Given the description of an element on the screen output the (x, y) to click on. 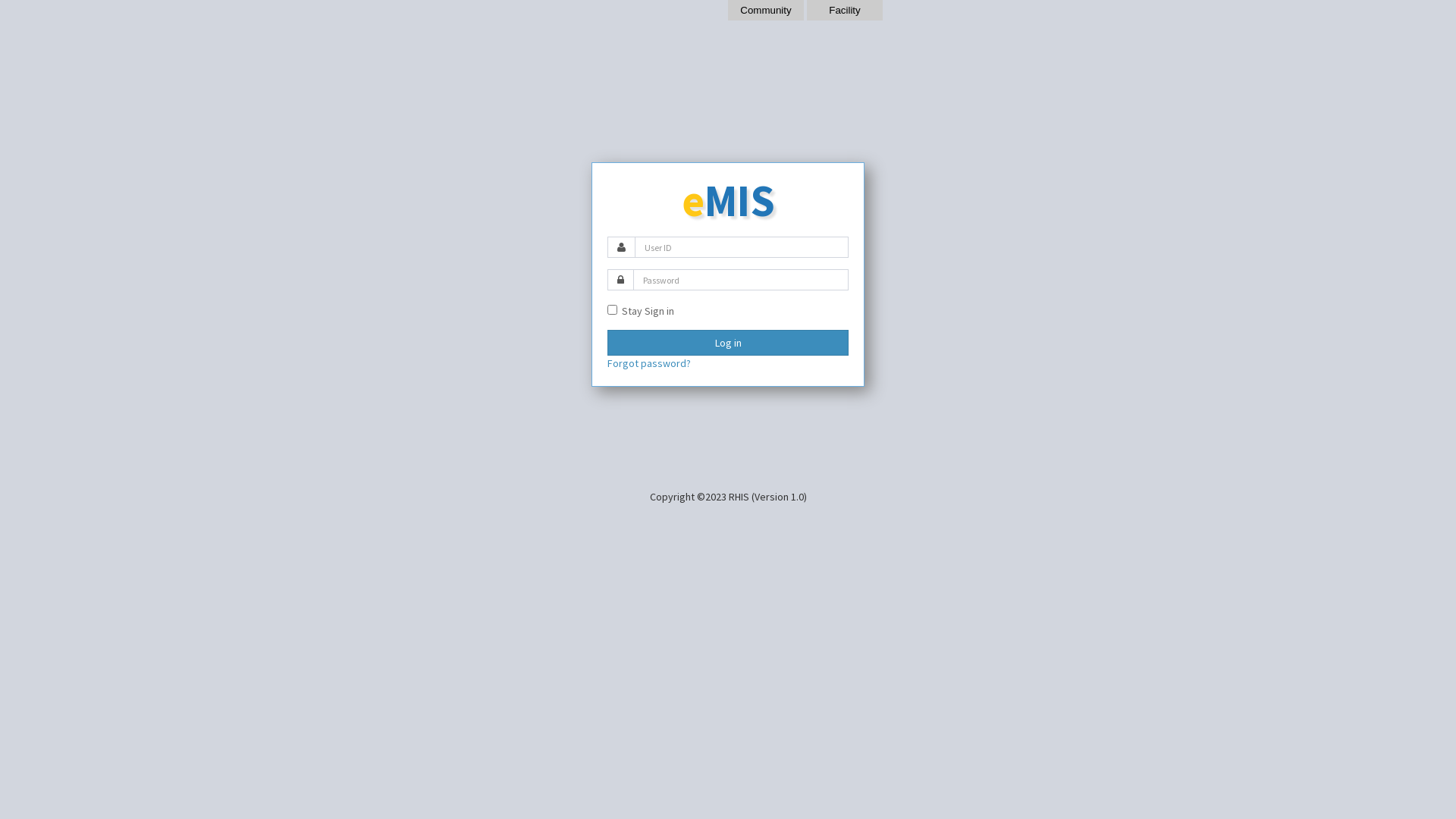
Community Element type: text (765, 10)
Facility Element type: text (844, 10)
